Given the description of an element on the screen output the (x, y) to click on. 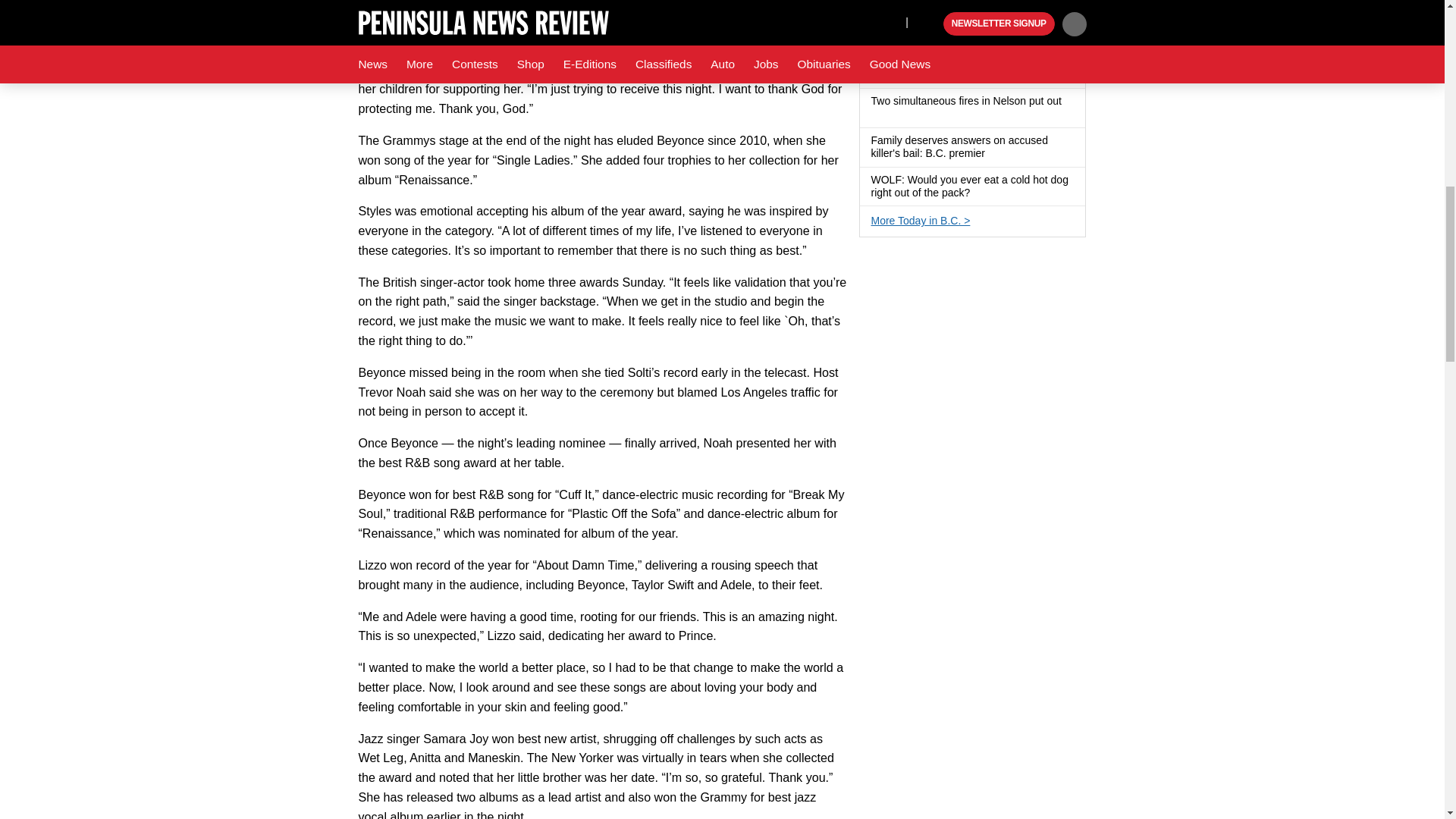
Has a gallery (876, 114)
